Given the description of an element on the screen output the (x, y) to click on. 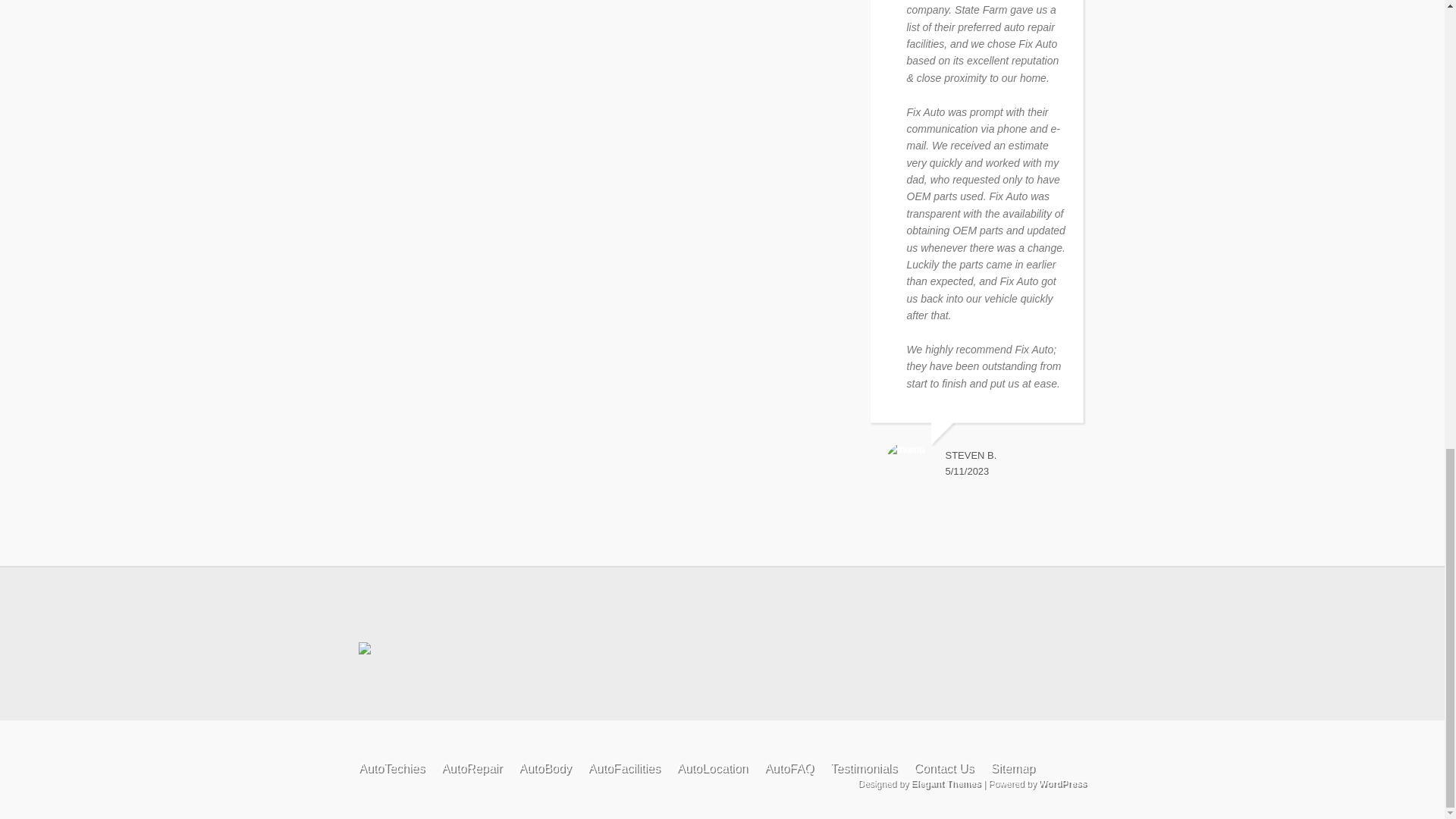
AutoBody (544, 767)
Testimonials (862, 767)
AutoLocation (711, 767)
Contact Us (944, 767)
WordPress (1062, 783)
AutoRepair (471, 767)
Sitemap (1012, 767)
AutoFAQ (788, 767)
Elegant Themes (945, 783)
AutoFacilities (623, 767)
